Given the description of an element on the screen output the (x, y) to click on. 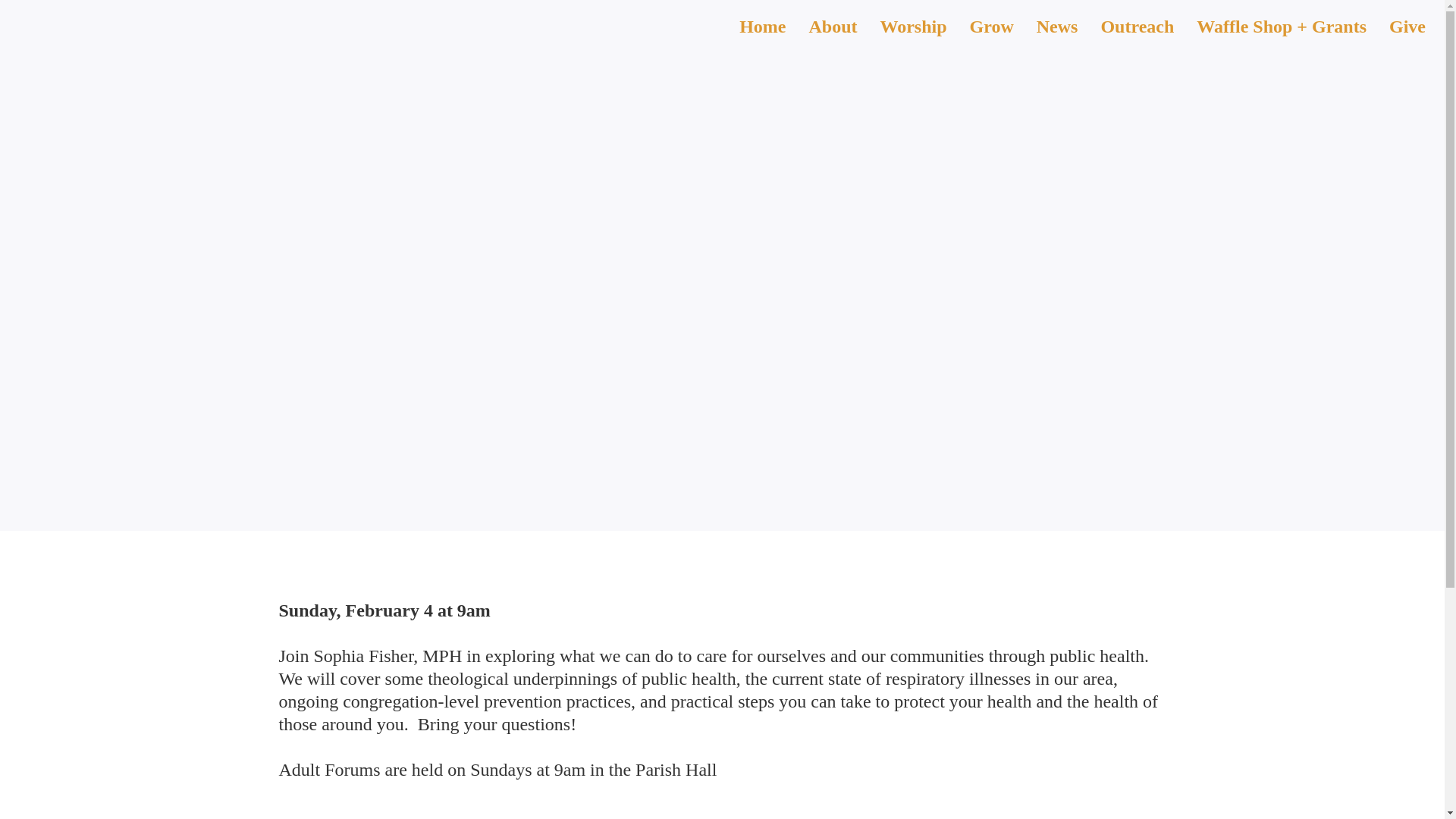
Grow (991, 26)
Home (762, 26)
About (833, 26)
Worship (913, 26)
News (1056, 26)
Outreach (1136, 26)
